Given the description of an element on the screen output the (x, y) to click on. 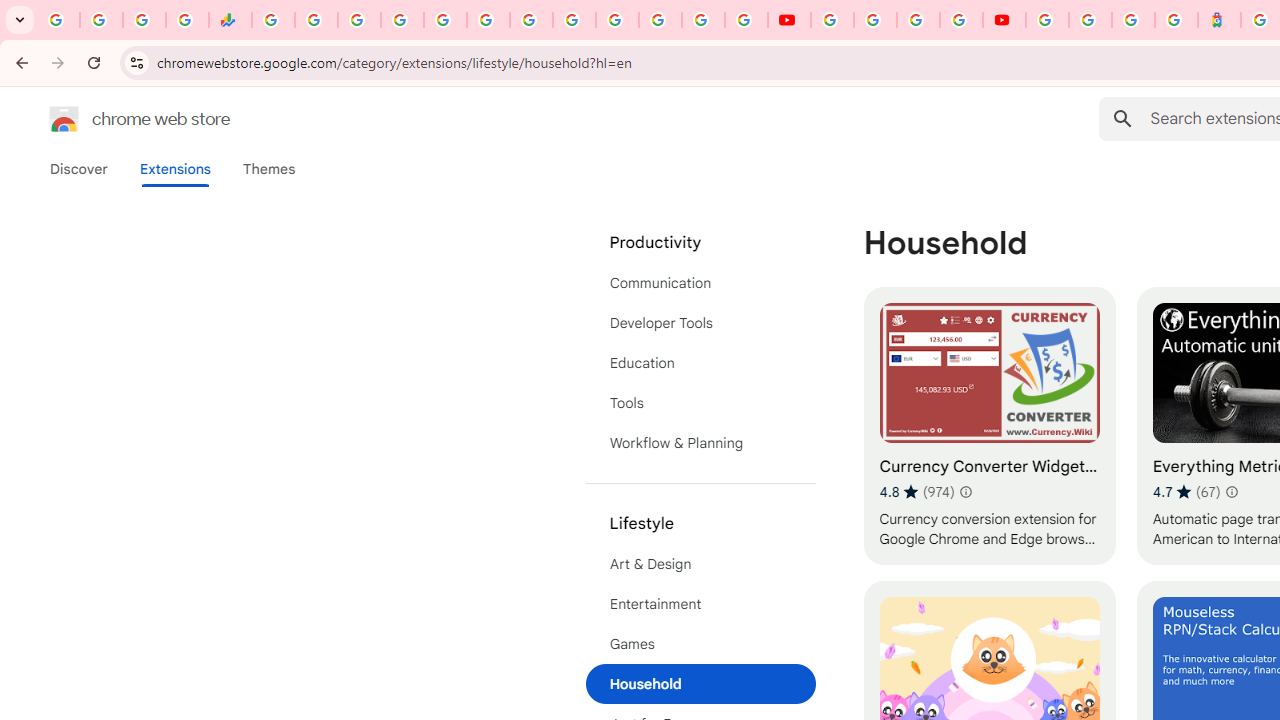
Atour Hotel - Google hotels (1219, 20)
Currency Converter Widget - Exchange Rates (989, 426)
Themes (269, 169)
Developer Tools (700, 322)
Household (selected) (700, 683)
Entertainment (700, 603)
Average rating 4.7 out of 5 stars. 67 ratings. (1186, 491)
Privacy Checkup (745, 20)
Games (700, 643)
Discover (79, 169)
